Given the description of an element on the screen output the (x, y) to click on. 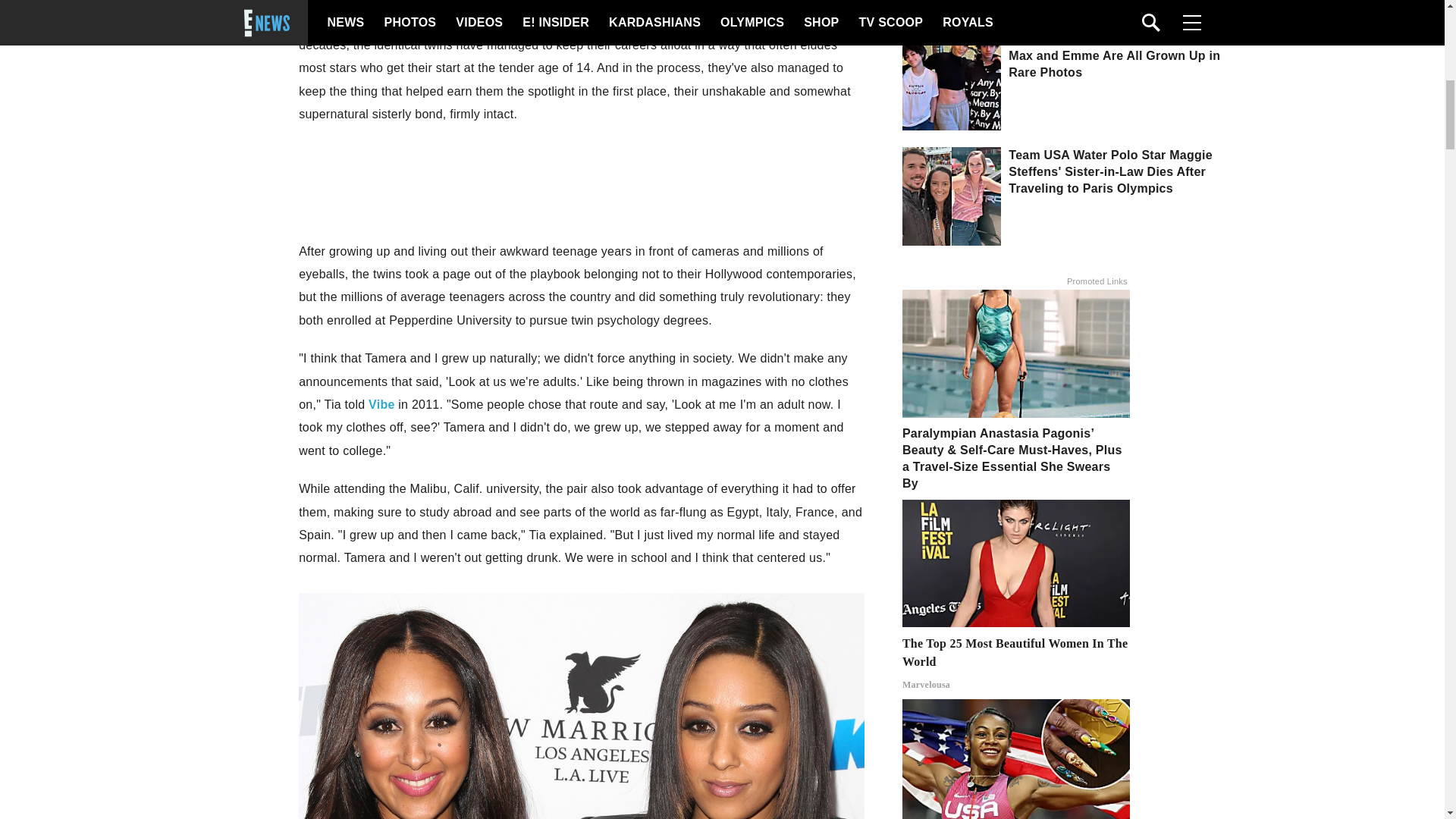
Vibe (381, 404)
